Given the description of an element on the screen output the (x, y) to click on. 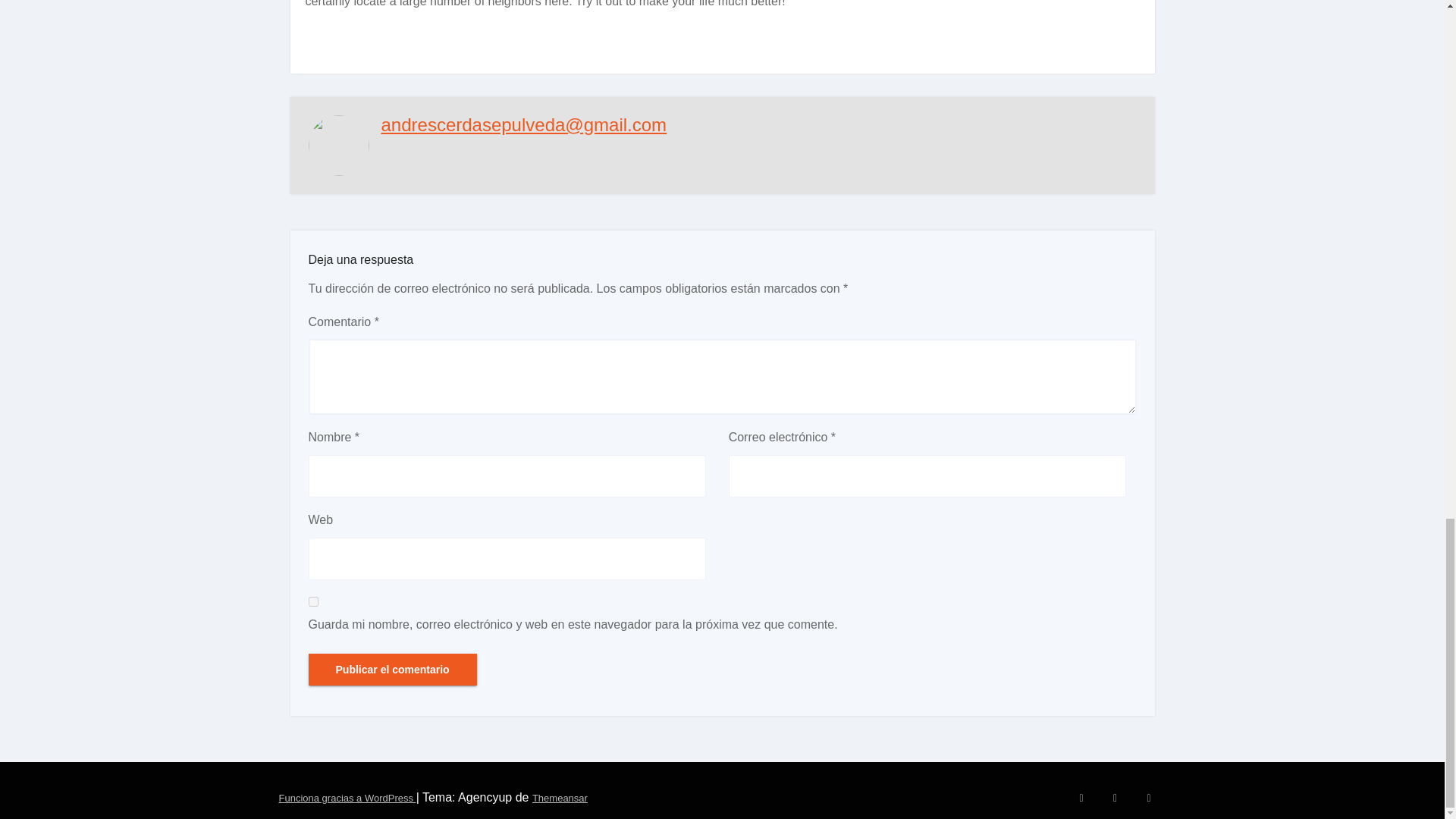
Publicar el comentario (391, 669)
Publicar el comentario (391, 669)
Themeansar (560, 797)
yes (312, 601)
Funciona gracias a WordPress (347, 797)
